Given the description of an element on the screen output the (x, y) to click on. 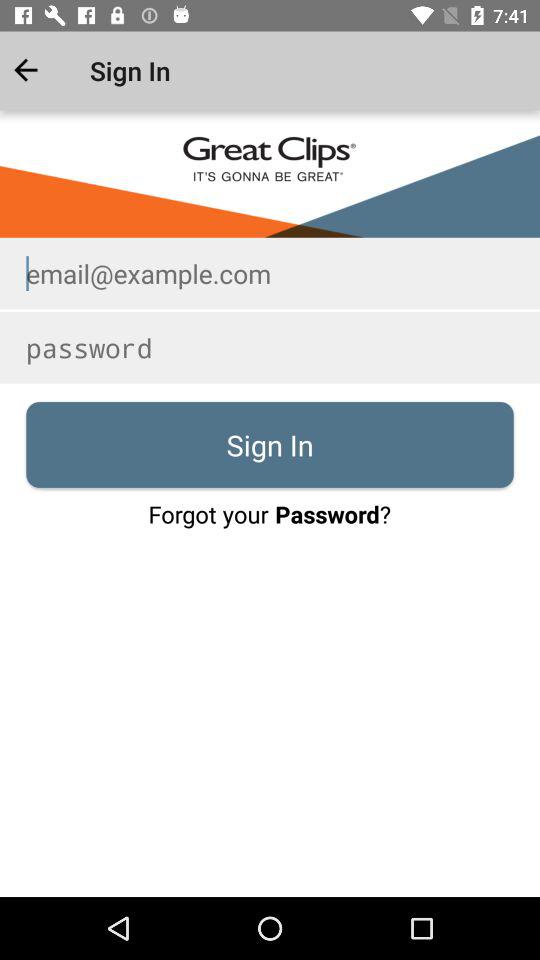
type in password to login (270, 347)
